Given the description of an element on the screen output the (x, y) to click on. 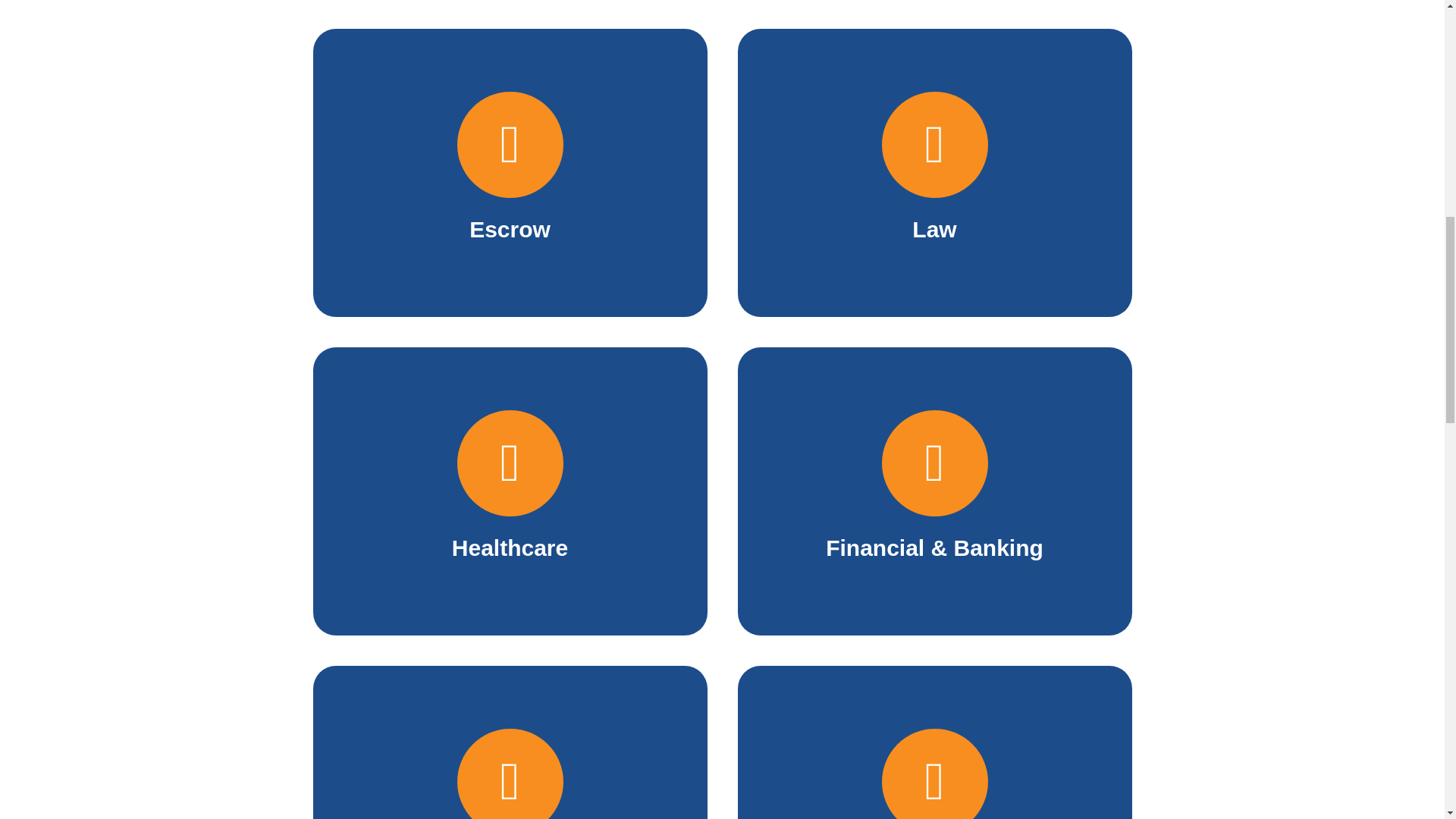
Learn More (510, 398)
Learn More (510, 79)
Learn More (934, 88)
